Given the description of an element on the screen output the (x, y) to click on. 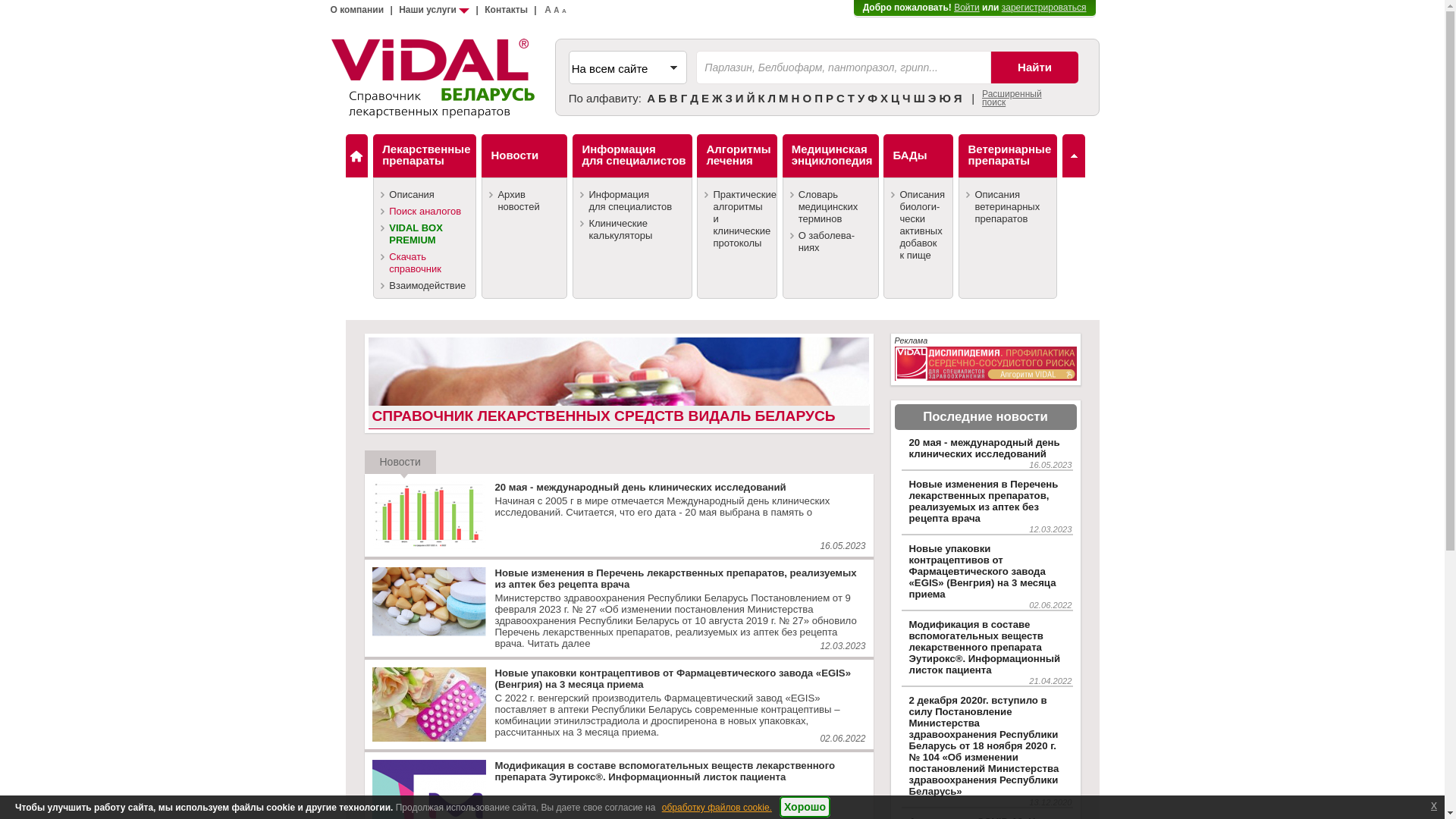
A Element type: text (563, 10)
VIDAL BOX PREMIUM Element type: text (424, 233)
A Element type: text (547, 9)
x Element type: text (1433, 805)
A Element type: text (555, 10)
